Given the description of an element on the screen output the (x, y) to click on. 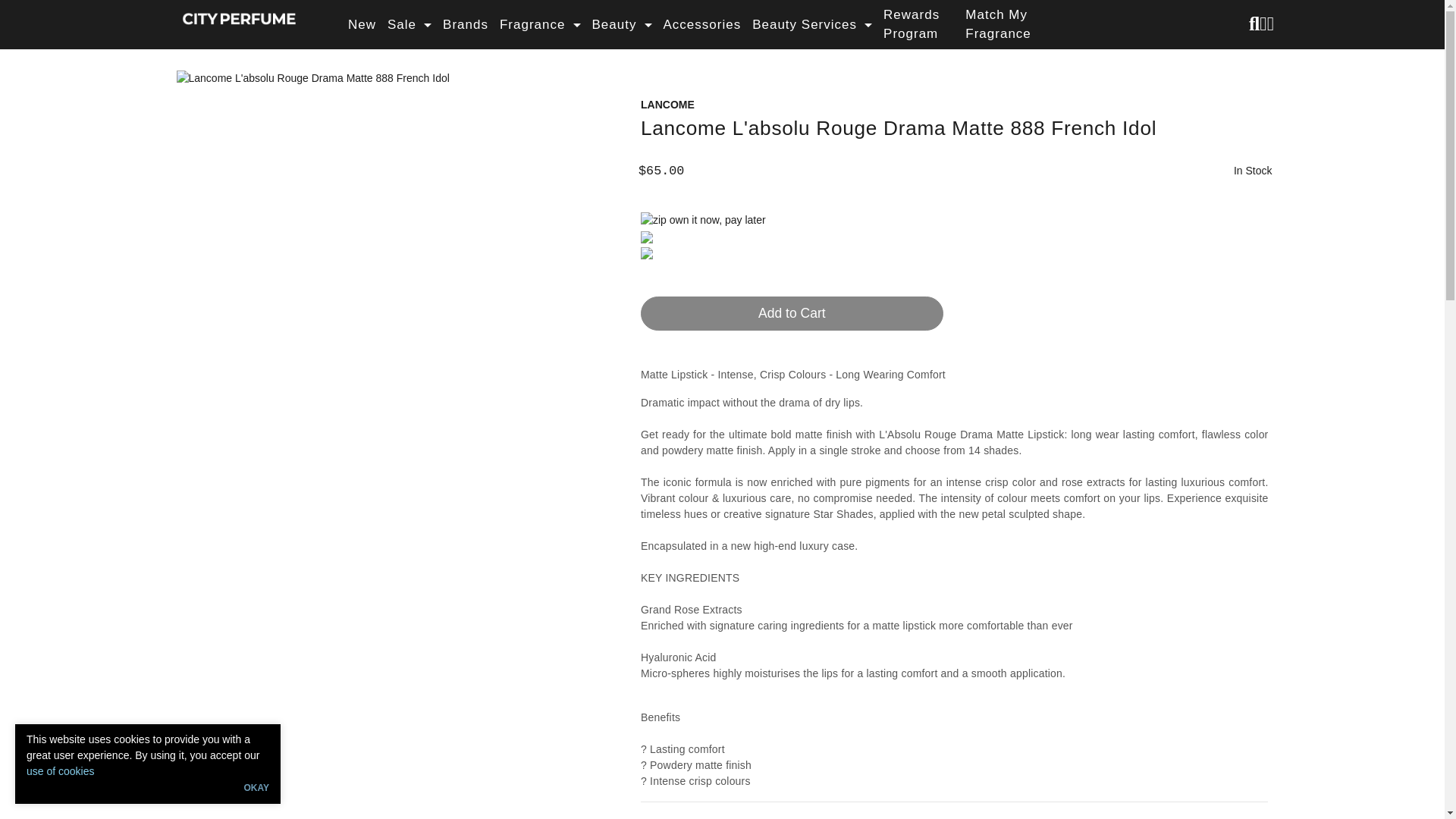
New (361, 24)
City Perfume Retail Pty Ltd (238, 17)
Beauty (622, 24)
Sale (408, 24)
Fragrance (539, 24)
Brands (464, 24)
